Given the description of an element on the screen output the (x, y) to click on. 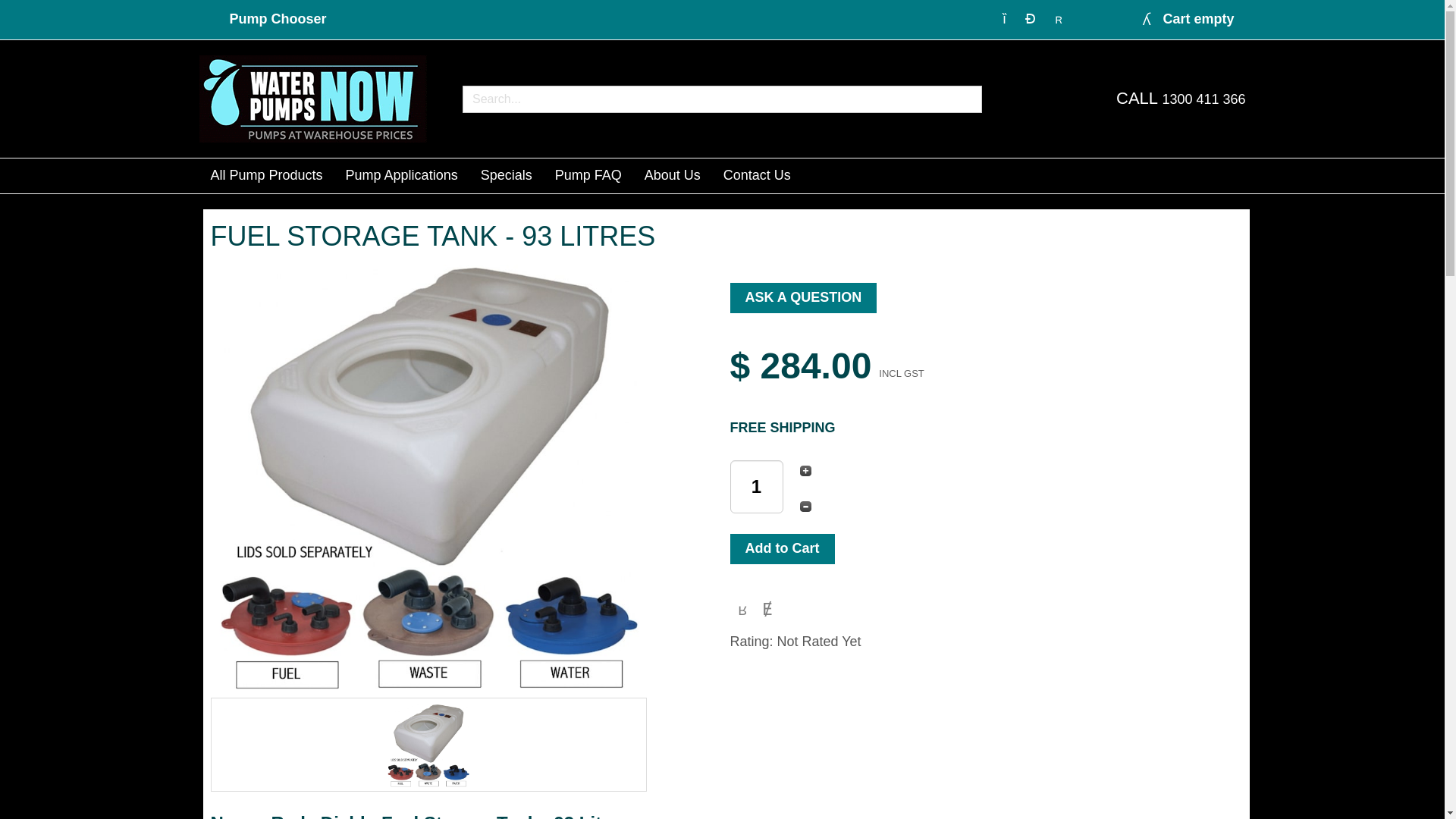
Pump Chooser (277, 18)
Pump Applications (401, 175)
Cart empty (1185, 19)
All Pump Products (265, 175)
Contact Us (756, 175)
ASK A QUESTION (802, 297)
Your Account (1058, 17)
Fuel Storage Tank - 93 Litres (781, 548)
FREE SHIPPING (781, 427)
Search (1003, 17)
Add to Cart (781, 548)
Tracking (1030, 17)
How to choose a pump (277, 18)
Free Shipping (781, 427)
Pump FAQ (588, 175)
